Given the description of an element on the screen output the (x, y) to click on. 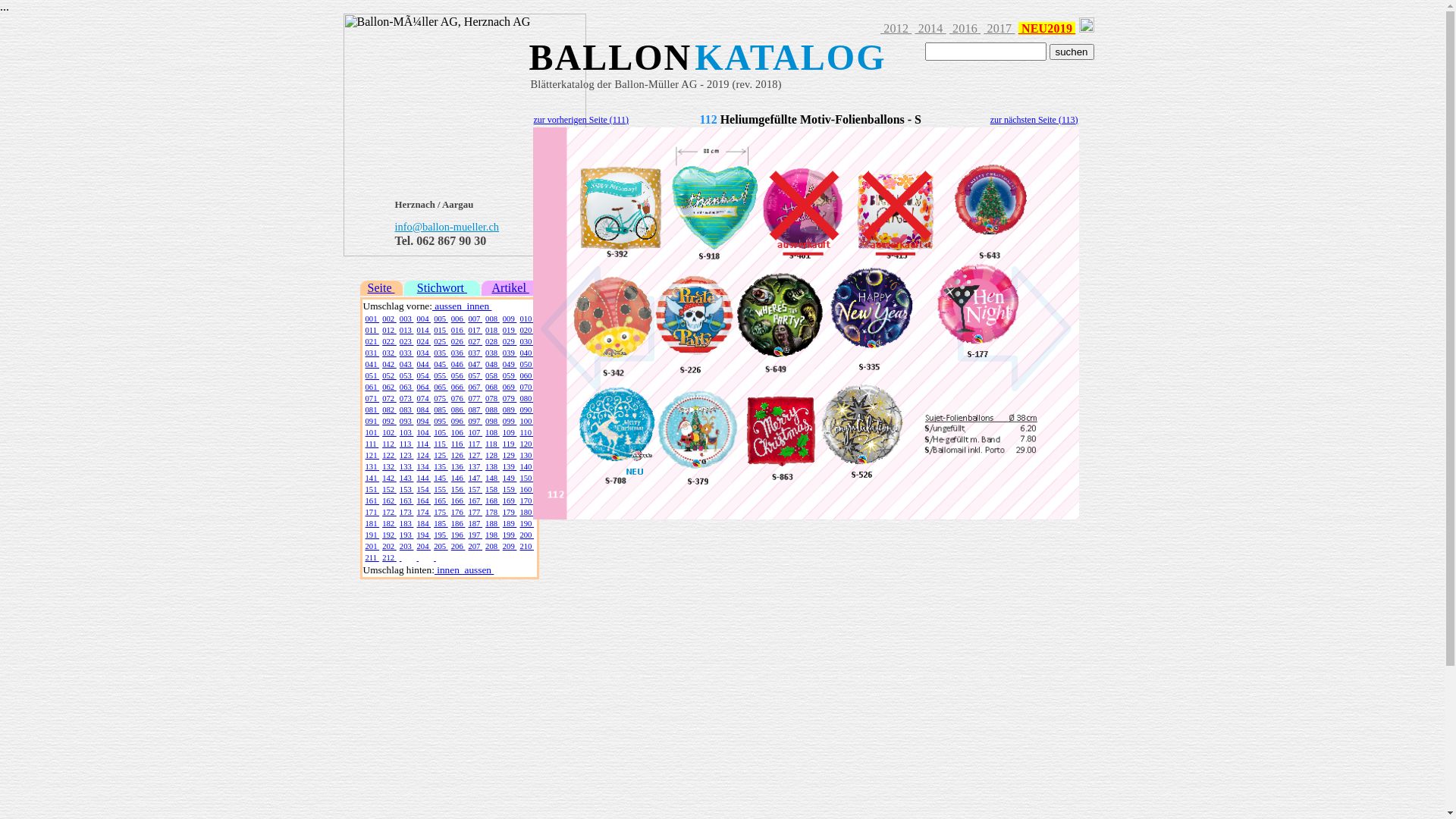
Seite  Element type: text (381, 287)
123  Element type: text (406, 455)
043  Element type: text (406, 364)
040  Element type: text (526, 352)
167  Element type: text (474, 500)
184  Element type: text (423, 523)
059  Element type: text (509, 375)
011  Element type: text (372, 330)
016  Element type: text (458, 330)
026  Element type: text (458, 341)
211  Element type: text (372, 557)
049  Element type: text (509, 364)
  Element type: text (434, 557)
118  Element type: text (491, 443)
126  Element type: text (458, 455)
007  Element type: text (474, 318)
055  Element type: text (440, 375)
zur vorherigen Seite (111) Element type: text (580, 118)
042  Element type: text (389, 364)
051  Element type: text (372, 375)
074  Element type: text (423, 398)
131  Element type: text (372, 466)
021  Element type: text (372, 341)
212  Element type: text (389, 557)
022  Element type: text (389, 341)
120  Element type: text (526, 443)
197  Element type: text (474, 534)
085  Element type: text (440, 409)
111  Element type: text (372, 443)
177  Element type: text (474, 512)
132  Element type: text (389, 466)
165  Element type: text (440, 500)
204  Element type: text (423, 546)
080  Element type: text (526, 398)
076  Element type: text (458, 398)
suchen Element type: text (1071, 51)
140  Element type: text (526, 466)
027  Element type: text (474, 341)
 2014  Element type: text (929, 27)
207  Element type: text (474, 546)
153  Element type: text (406, 489)
130  Element type: text (526, 455)
175  Element type: text (440, 512)
161  Element type: text (372, 500)
162  Element type: text (389, 500)
173  Element type: text (406, 512)
024  Element type: text (423, 341)
060  Element type: text (526, 375)
122  Element type: text (389, 455)
033  Element type: text (406, 352)
037  Element type: text (474, 352)
084  Element type: text (423, 409)
 innen  Element type: text (477, 305)
110  Element type: text (526, 432)
081  Element type: text (372, 409)
096  Element type: text (458, 421)
045  Element type: text (440, 364)
041  Element type: text (372, 364)
063  Element type: text (406, 386)
157  Element type: text (474, 489)
103  Element type: text (406, 432)
210  Element type: text (526, 546)
092  Element type: text (389, 421)
208  Element type: text (492, 546)
003  Element type: text (406, 318)
185  Element type: text (440, 523)
101  Element type: text (372, 432)
098  Element type: text (492, 421)
078  Element type: text (492, 398)
104  Element type: text (423, 432)
129  Element type: text (509, 455)
046  Element type: text (458, 364)
039  Element type: text (509, 352)
135  Element type: text (440, 466)
154  Element type: text (423, 489)
087  Element type: text (474, 409)
178  Element type: text (492, 512)
114  Element type: text (422, 443)
 innen  Element type: text (447, 569)
155  Element type: text (440, 489)
137  Element type: text (474, 466)
127  Element type: text (474, 455)
180  Element type: text (526, 512)
190  Element type: text (526, 523)
134  Element type: text (423, 466)
166  Element type: text (458, 500)
143  Element type: text (406, 477)
169  Element type: text (509, 500)
005  Element type: text (440, 318)
163  Element type: text (406, 500)
089  Element type: text (509, 409)
066  Element type: text (458, 386)
151  Element type: text (372, 489)
067  Element type: text (474, 386)
030  Element type: text (526, 341)
010  Element type: text (526, 318)
064  Element type: text (423, 386)
077  Element type: text (474, 398)
156  Element type: text (458, 489)
144  Element type: text (423, 477)
079  Element type: text (509, 398)
090  Element type: text (526, 409)
004  Element type: text (423, 318)
145  Element type: text (440, 477)
018  Element type: text (492, 330)
192  Element type: text (389, 534)
199  Element type: text (509, 534)
121  Element type: text (372, 455)
015  Element type: text (440, 330)
062  Element type: text (389, 386)
159  Element type: text (509, 489)
083  Element type: text (406, 409)
061  Element type: text (372, 386)
200  Element type: text (526, 534)
181  Element type: text (372, 523)
174  Element type: text (423, 512)
Stichwort  Element type: text (442, 287)
147  Element type: text (474, 477)
044  Element type: text (423, 364)
 2012  Element type: text (895, 27)
182  Element type: text (389, 523)
100  Element type: text (526, 421)
133  Element type: text (406, 466)
info@ballon-mueller.ch Element type: text (446, 226)
013  Element type: text (406, 330)
072  Element type: text (389, 398)
 2017  Element type: text (998, 27)
095  Element type: text (440, 421)
 2016  Element type: text (964, 27)
108  Element type: text (492, 432)
028  Element type: text (492, 341)
032  Element type: text (389, 352)
146  Element type: text (458, 477)
  Element type: text (417, 557)
 aussen  Element type: text (477, 569)
009  Element type: text (509, 318)
109  Element type: text (509, 432)
094  Element type: text (423, 421)
195  Element type: text (440, 534)
056  Element type: text (458, 375)
057  Element type: text (474, 375)
205  Element type: text (440, 546)
069  Element type: text (509, 386)
073  Element type: text (406, 398)
070  Element type: text (526, 386)
128  Element type: text (492, 455)
164  Element type: text (423, 500)
186  Element type: text (458, 523)
176  Element type: text (458, 512)
152  Element type: text (389, 489)
206  Element type: text (458, 546)
065  Element type: text (440, 386)
075  Element type: text (440, 398)
107  Element type: text (474, 432)
071  Element type: text (372, 398)
082  Element type: text (389, 409)
119  Element type: text (509, 443)
047  Element type: text (474, 364)
019  Element type: text (509, 330)
008  Element type: text (492, 318)
149  Element type: text (509, 477)
014  Element type: text (423, 330)
203  Element type: text (406, 546)
193  Element type: text (406, 534)
188  Element type: text (492, 523)
202  Element type: text (389, 546)
168  Element type: text (492, 500)
124  Element type: text (423, 455)
201  Element type: text (372, 546)
097  Element type: text (474, 421)
068  Element type: text (492, 386)
001  Element type: text (372, 318)
115  Element type: text (440, 443)
138  Element type: text (492, 466)
020  Element type: text (526, 330)
105  Element type: text (440, 432)
183  Element type: text (406, 523)
023  Element type: text (406, 341)
058  Element type: text (492, 375)
 aussen  Element type: text (448, 305)
017  Element type: text (474, 330)
038  Element type: text (492, 352)
002  Element type: text (389, 318)
148  Element type: text (492, 477)
Artikel  Element type: text (509, 287)
048  Element type: text (492, 364)
106  Element type: text (458, 432)
142  Element type: text (389, 477)
160  Element type: text (526, 489)
117  Element type: text (474, 443)
172  Element type: text (389, 512)
141  Element type: text (372, 477)
053  Element type: text (406, 375)
116  Element type: text (457, 443)
191  Element type: text (372, 534)
029  Element type: text (509, 341)
093  Element type: text (406, 421)
031  Element type: text (372, 352)
054  Element type: text (423, 375)
136  Element type: text (458, 466)
099  Element type: text (509, 421)
194  Element type: text (423, 534)
052  Element type: text (389, 375)
171  Element type: text (372, 512)
113  Element type: text (406, 443)
158  Element type: text (492, 489)
209  Element type: text (509, 546)
050  Element type: text (526, 364)
036  Element type: text (458, 352)
088  Element type: text (492, 409)
189  Element type: text (509, 523)
150  Element type: text (526, 477)
086  Element type: text (458, 409)
187  Element type: text (474, 523)
139  Element type: text (509, 466)
 NEU2019  Element type: text (1047, 27)
196  Element type: text (458, 534)
035  Element type: text (440, 352)
006  Element type: text (458, 318)
125  Element type: text (440, 455)
198  Element type: text (492, 534)
102  Element type: text (389, 432)
034  Element type: text (423, 352)
179  Element type: text (509, 512)
091  Element type: text (372, 421)
012  Element type: text (389, 330)
170  Element type: text (526, 500)
112  Element type: text (388, 443)
  Element type: text (400, 557)
025  Element type: text (440, 341)
